Given the description of an element on the screen output the (x, y) to click on. 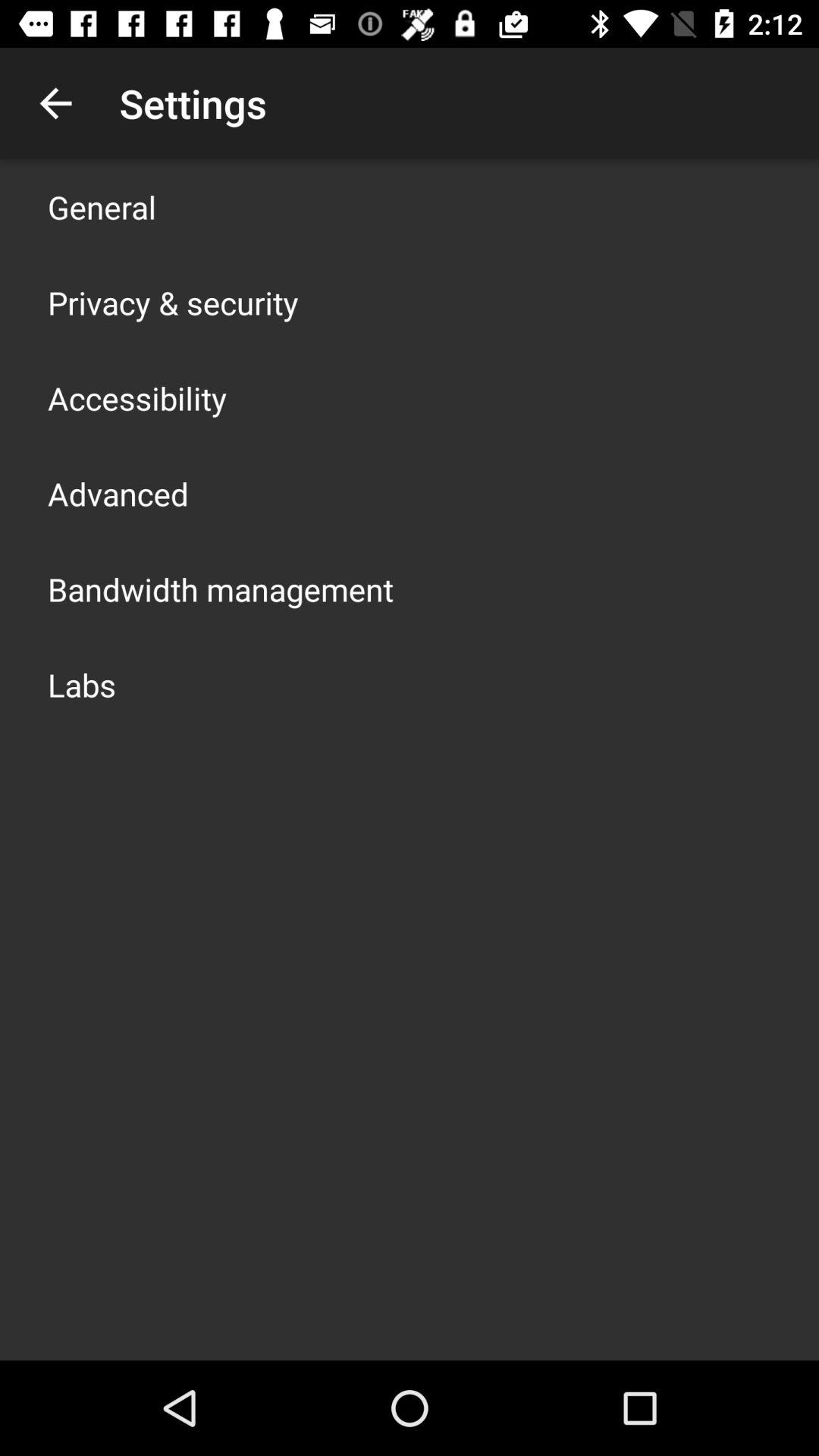
press the item above the bandwidth management app (117, 493)
